Given the description of an element on the screen output the (x, y) to click on. 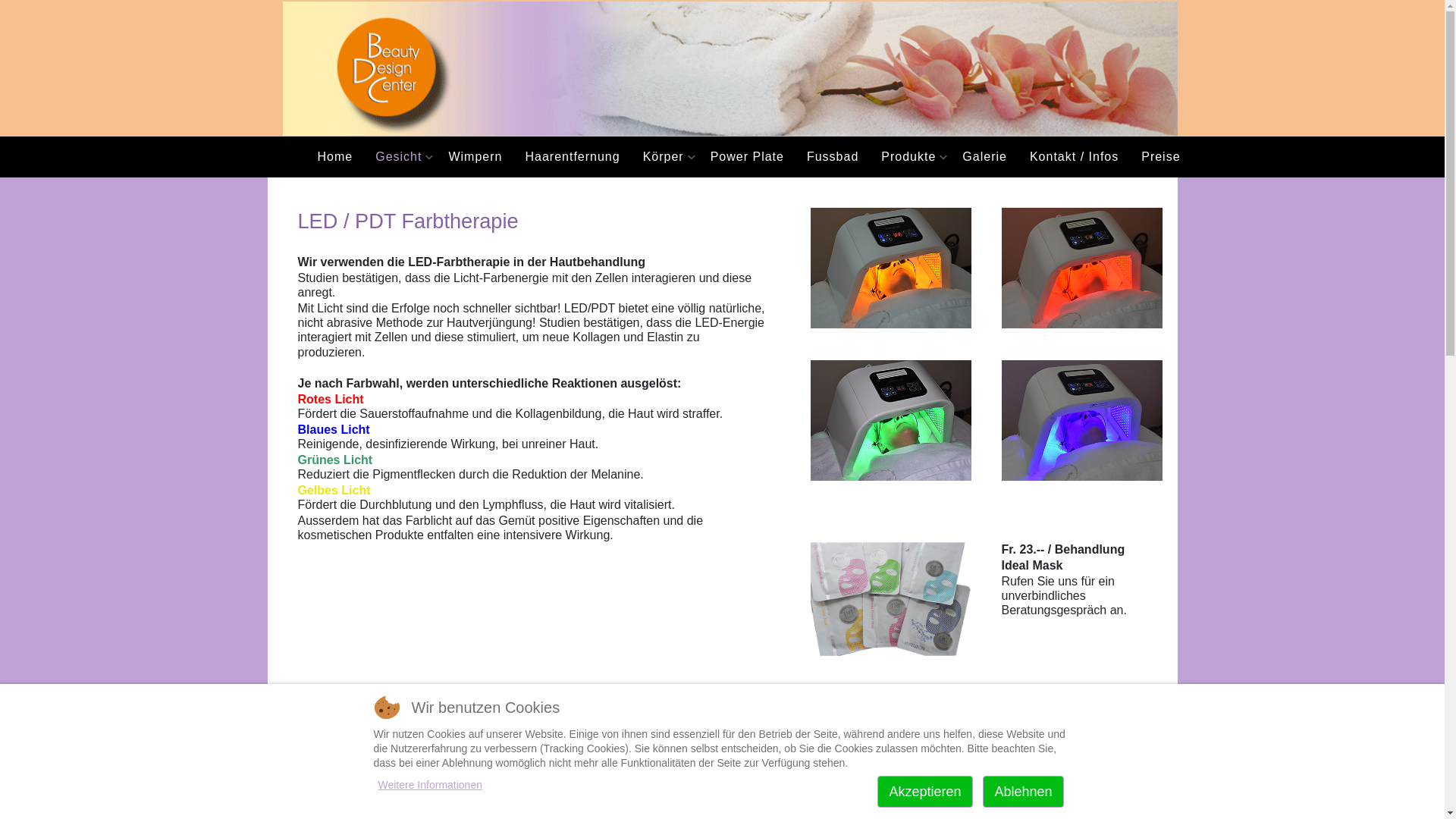
Galerie Element type: text (984, 156)
Home Element type: text (334, 156)
Preise Element type: text (1160, 156)
Fussbad Element type: text (832, 156)
Gesicht Element type: text (400, 156)
STRAHLENDES GESICHT Element type: text (428, 809)
Akzeptieren Element type: text (924, 791)
Haarentfernung Element type: text (571, 156)
Weitere Informationen Element type: text (429, 784)
Kontakt / Infos Element type: text (1073, 156)
Produkte Element type: text (910, 156)
Wimpern Element type: text (475, 156)
Power Plate Element type: text (747, 156)
Ablehnen Element type: text (1022, 791)
